Given the description of an element on the screen output the (x, y) to click on. 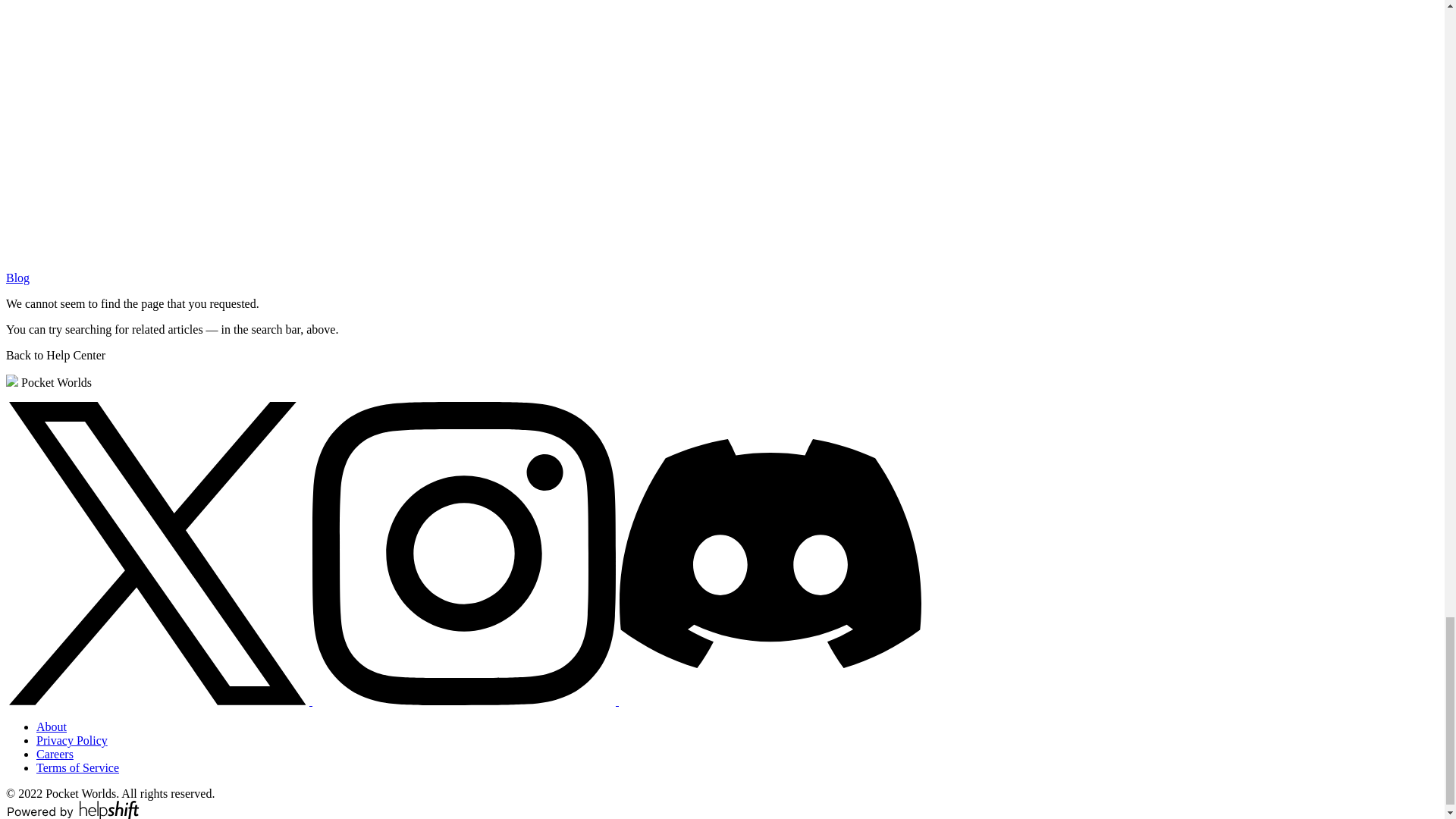
Pocket Worlds (48, 382)
Logo Discord (769, 700)
Logo Discord (769, 553)
Careers (55, 753)
Logo Instagram (465, 700)
About (51, 726)
Terms of Service (77, 767)
Privacy Policy (71, 739)
Logo Instagram (464, 553)
Blog (17, 277)
